Given the description of an element on the screen output the (x, y) to click on. 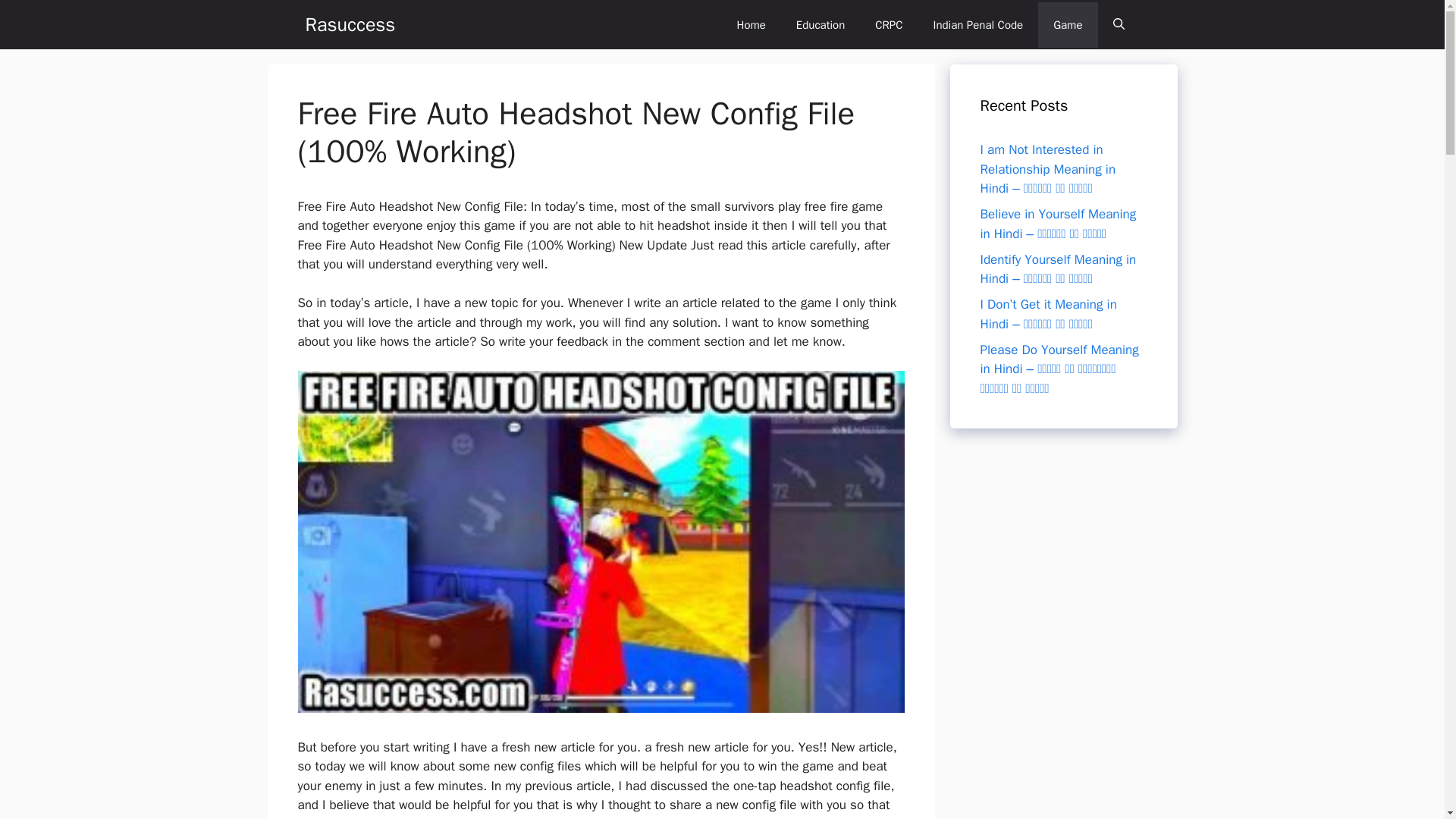
Home (751, 23)
Indian Penal Code (978, 23)
CRPC (888, 23)
Rasuccess (349, 24)
Education (820, 23)
Game (1067, 23)
